Given the description of an element on the screen output the (x, y) to click on. 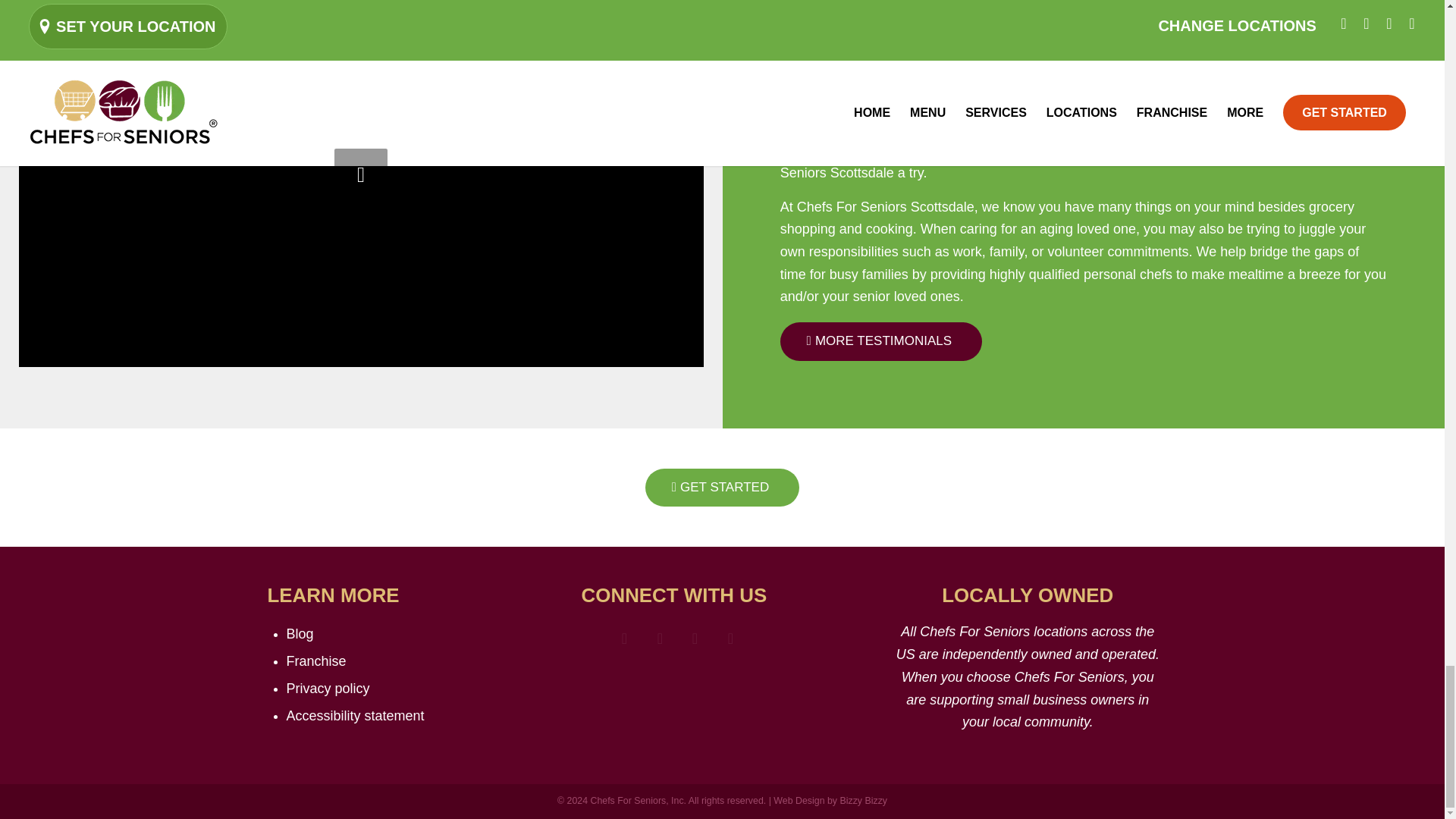
Blog (300, 633)
GET STARTED (722, 487)
MORE TESTIMONIALS (880, 341)
personal chef (1216, 82)
Franchise (316, 661)
